Given the description of an element on the screen output the (x, y) to click on. 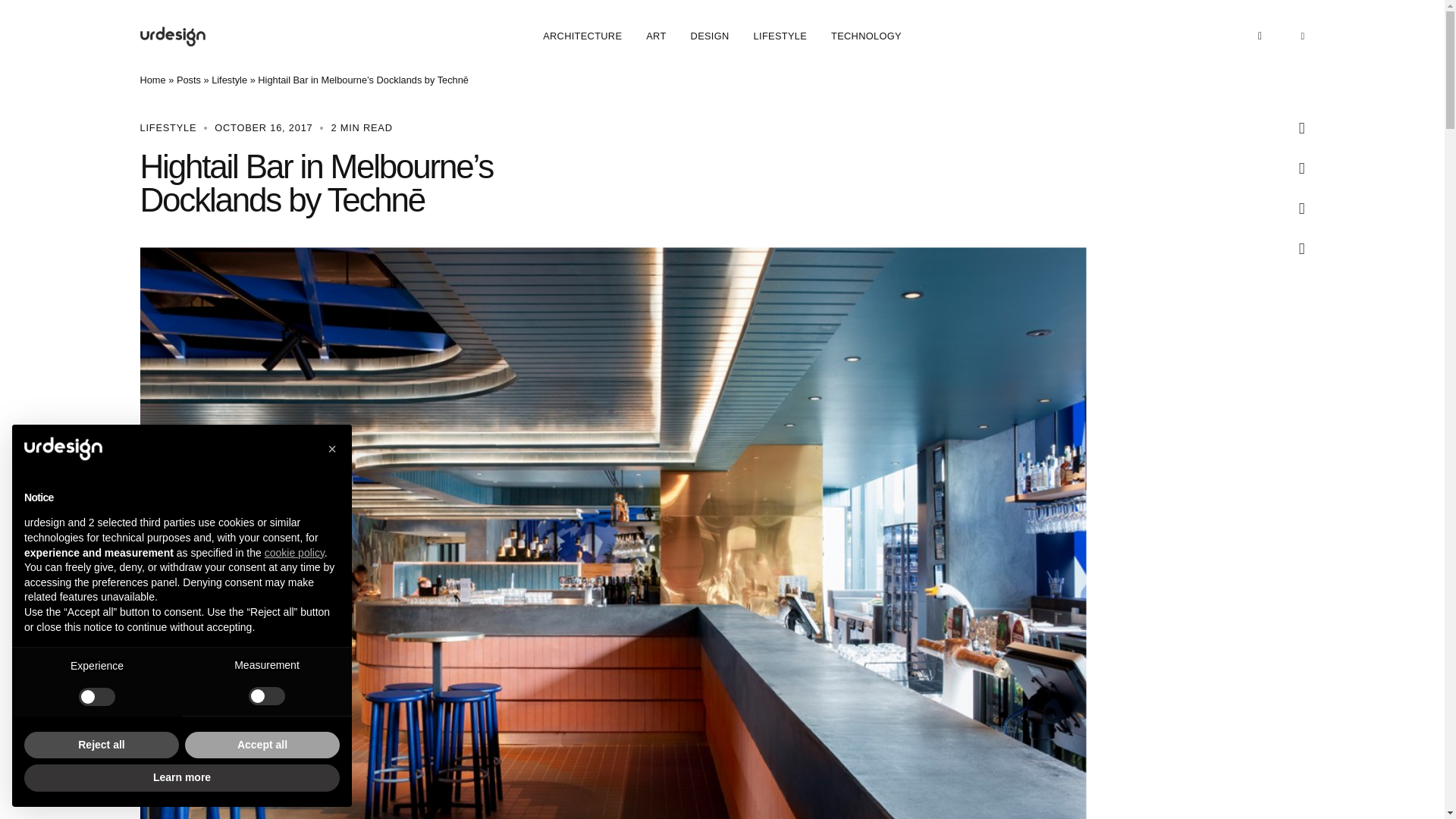
false (96, 696)
ARCHITECTURE (582, 36)
TECHNOLOGY (866, 36)
false (266, 696)
